Given the description of an element on the screen output the (x, y) to click on. 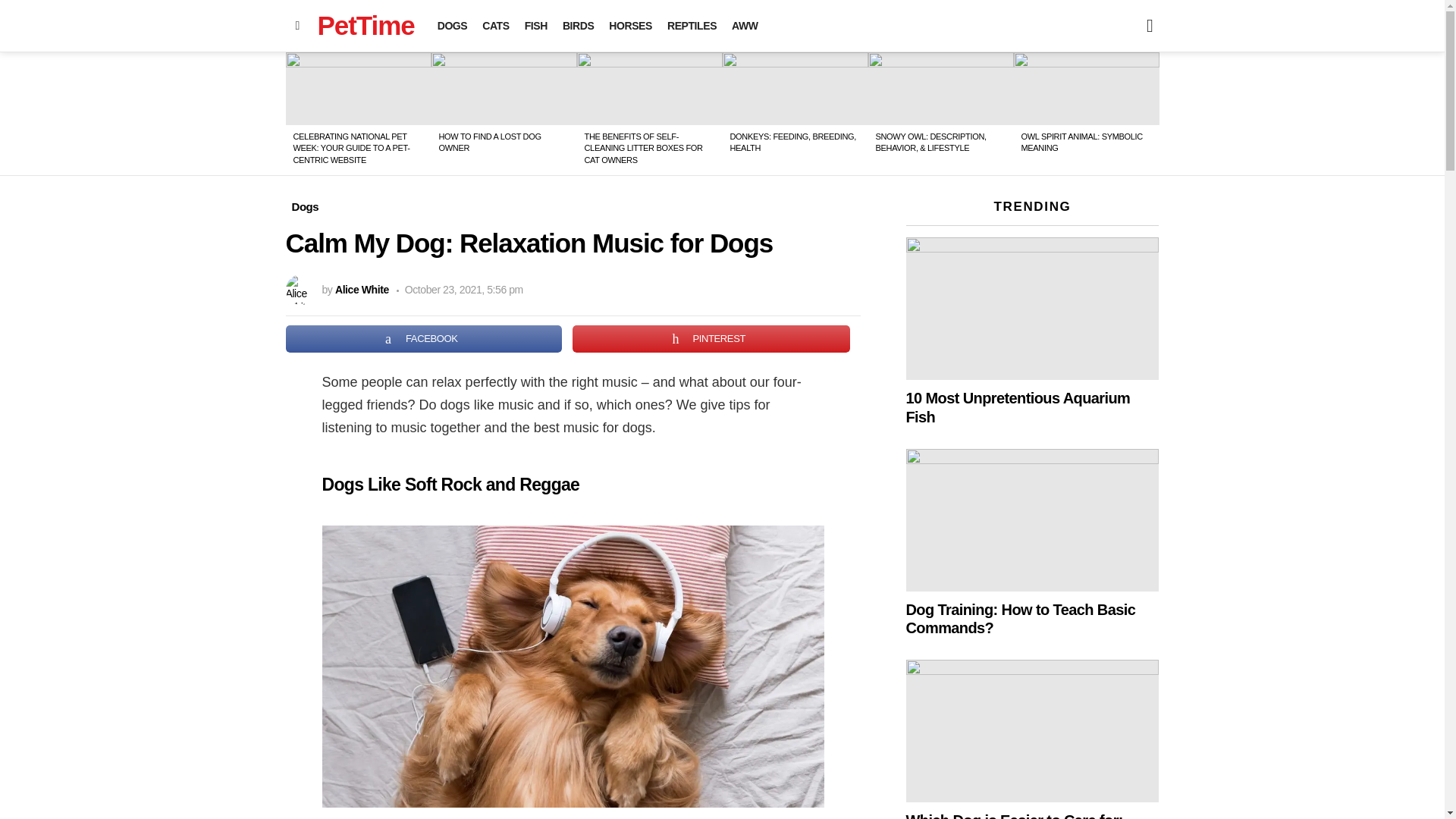
REPTILES (691, 25)
FISH (535, 25)
Share on Facebook (422, 338)
Dogs (304, 207)
HORSES (630, 25)
Posts by Alice White (361, 289)
PINTEREST (711, 338)
Share on Pinterest (711, 338)
PetTime (365, 25)
Owl Spirit Animal: Symbolic Meaning (1085, 88)
DONKEYS: FEEDING, BREEDING, HEALTH (792, 141)
DOGS (452, 25)
THE BENEFITS OF SELF-CLEANING LITTER BOXES FOR CAT OWNERS (642, 147)
